Given the description of an element on the screen output the (x, y) to click on. 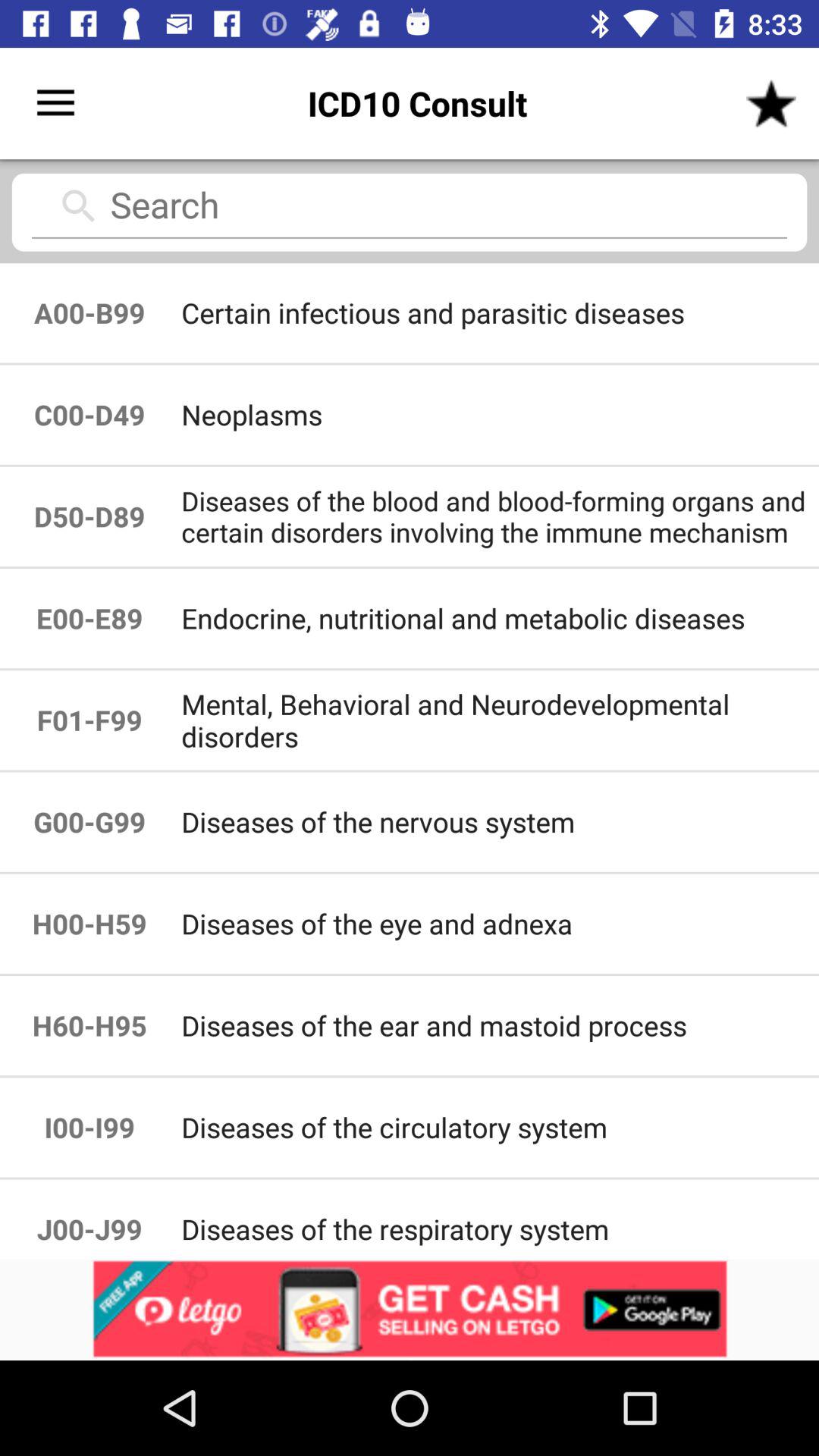
click advert (409, 1309)
